Given the description of an element on the screen output the (x, y) to click on. 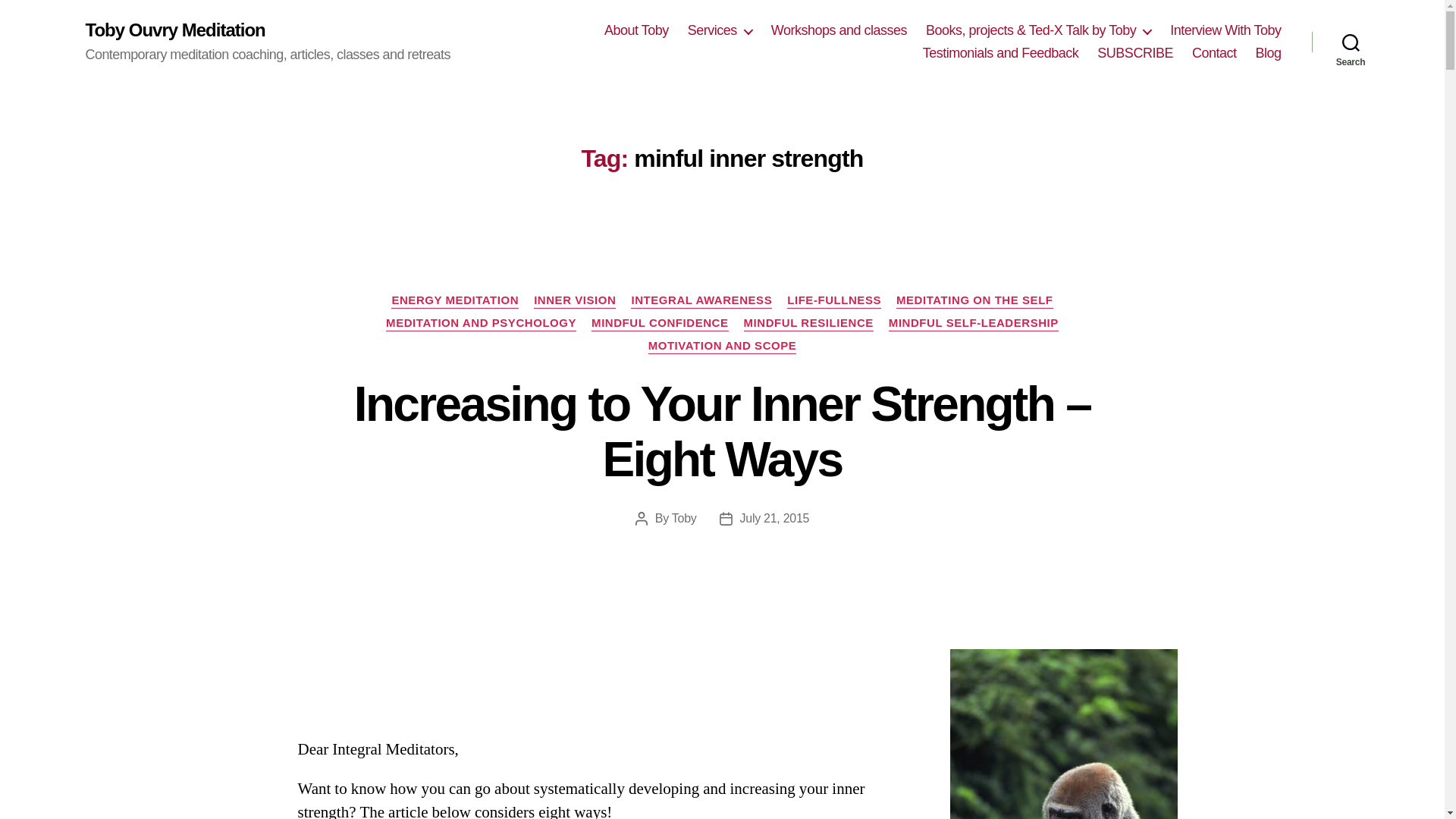
LIFE-FULLNESS (833, 300)
Toby Ouvry Meditation (174, 30)
Blog (1268, 53)
About Toby (636, 30)
Services (719, 30)
Workshops and classes (839, 30)
Interview With Toby (1225, 30)
INNER VISION (574, 300)
Testimonials and Feedback (1000, 53)
Contact (1214, 53)
